Given the description of an element on the screen output the (x, y) to click on. 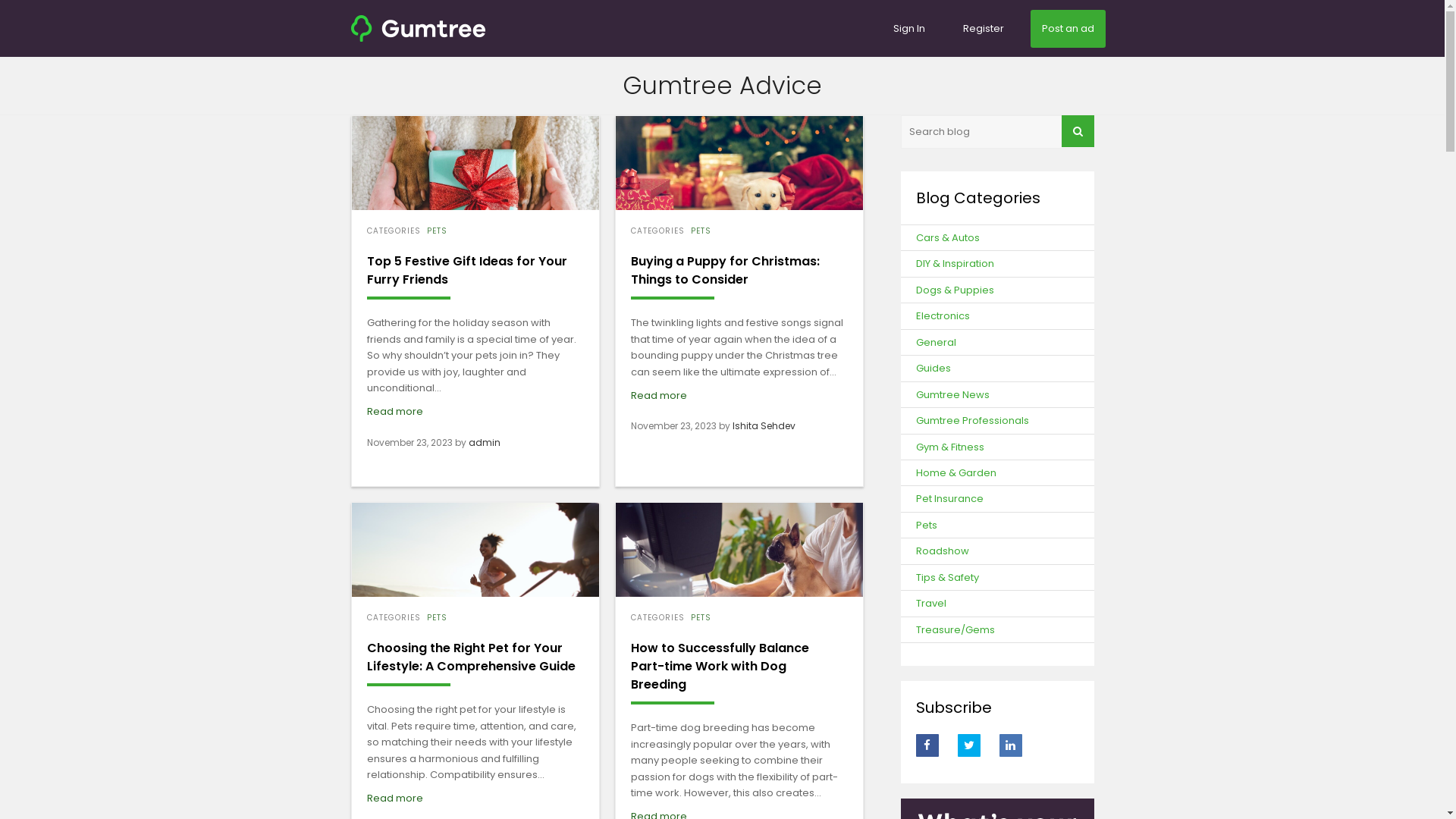
Gumtree Australia Blog Element type: hover (417, 27)
Cars & Autos Element type: text (947, 237)
Treasure/Gems Element type: text (955, 629)
LinkedIn Element type: hover (1010, 745)
Dogs & Puppies Element type: text (955, 289)
Pet Insurance Element type: text (949, 498)
Gumtree Professionals Element type: text (972, 420)
Read more Element type: text (395, 797)
PETS Element type: text (700, 230)
Gumtree News Element type: text (952, 394)
Register Element type: text (982, 28)
Top 5 Festive Gift Ideas for Your Furry Friends Element type: hover (475, 163)
PETS Element type: text (436, 230)
Tips & Safety Element type: text (947, 577)
DIY & Inspiration Element type: text (955, 263)
Sign In Element type: text (908, 28)
Travel Element type: text (931, 603)
PETS Element type: text (436, 617)
General Element type: text (936, 342)
Ishita Sehdev Element type: text (763, 425)
Twitter Element type: hover (968, 745)
Pets Element type: text (926, 524)
Guides Element type: text (933, 367)
PETS Element type: text (700, 617)
Buying a Puppy for Christmas: Things to Consider Element type: hover (738, 163)
Buying a Puppy for Christmas: Things to Consider Element type: text (724, 270)
How to Successfully Balance Part-time Work with Dog Breeding Element type: text (719, 666)
admin Element type: text (484, 442)
Read more Element type: text (658, 395)
Gym & Fitness Element type: text (950, 446)
Post an ad Element type: text (1066, 28)
Read more Element type: text (395, 411)
Electronics Element type: text (942, 315)
Facebook Element type: hover (927, 745)
Roadshow Element type: text (942, 550)
Top 5 Festive Gift Ideas for Your Furry Friends Element type: text (467, 270)
How to Successfully Balance Part-time Work with Dog Breeding Element type: hover (738, 549)
Home & Garden Element type: text (956, 472)
